Given the description of an element on the screen output the (x, y) to click on. 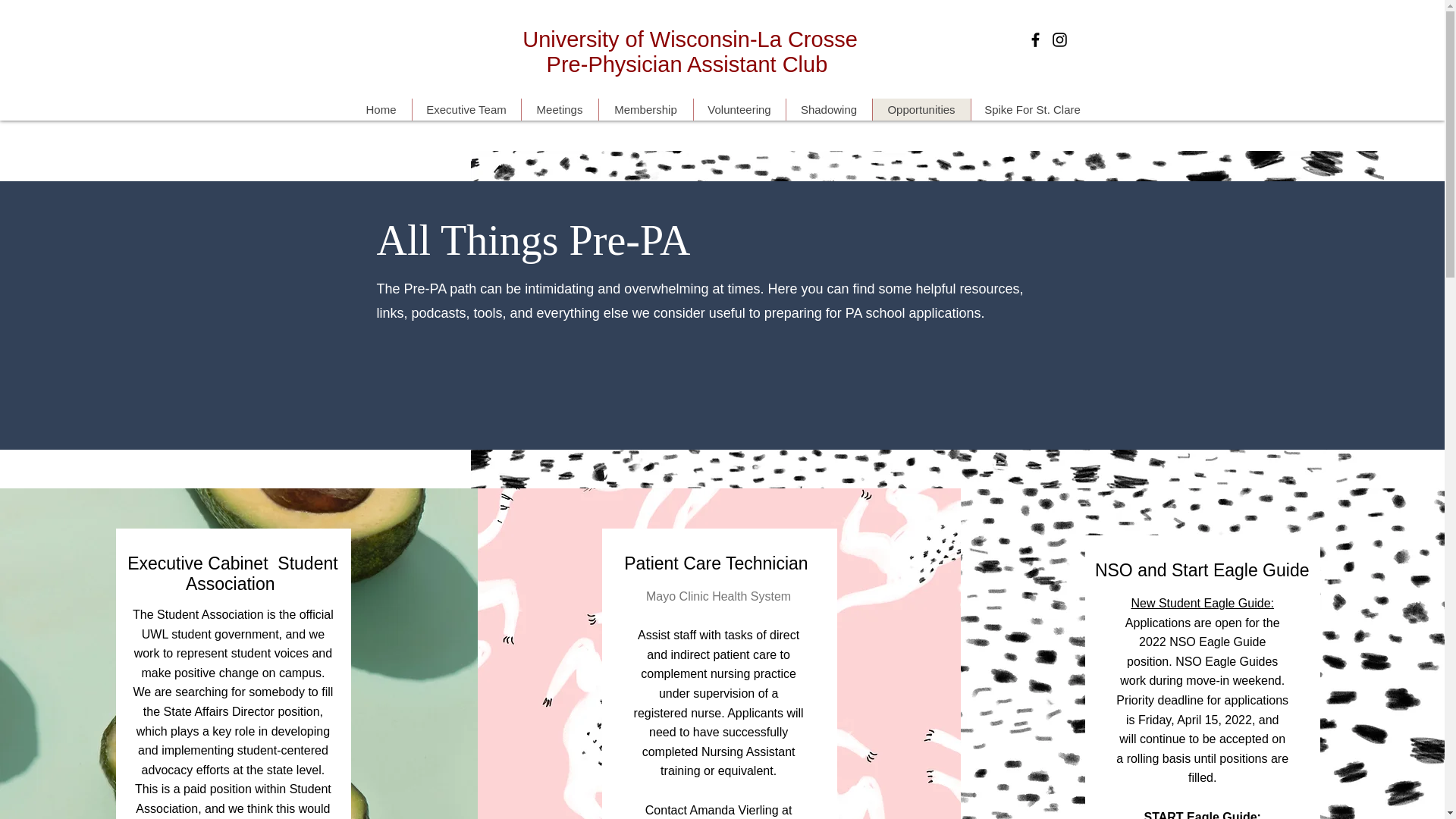
Executive Team (464, 109)
Opportunities (921, 109)
Pre-Physician Assistant Club  (690, 64)
Membership (644, 109)
Meetings (557, 109)
Volunteering (739, 109)
Shadowing (829, 109)
Spike For St. Clare (1032, 109)
Home (380, 109)
University of Wisconsin-La Crosse (689, 39)
